Given the description of an element on the screen output the (x, y) to click on. 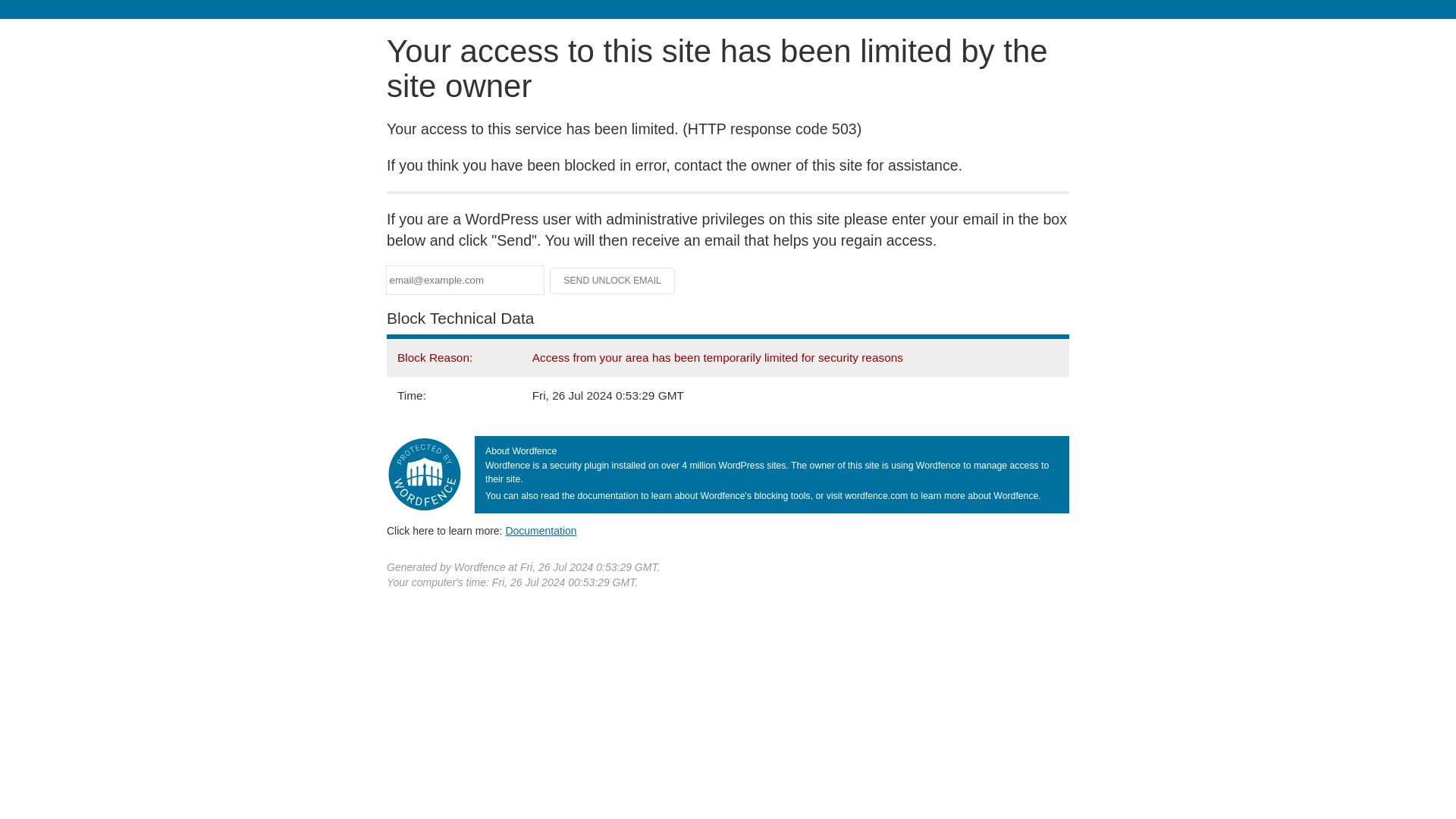
Send Unlock Email (612, 280)
Send Unlock Email (612, 280)
